Given the description of an element on the screen output the (x, y) to click on. 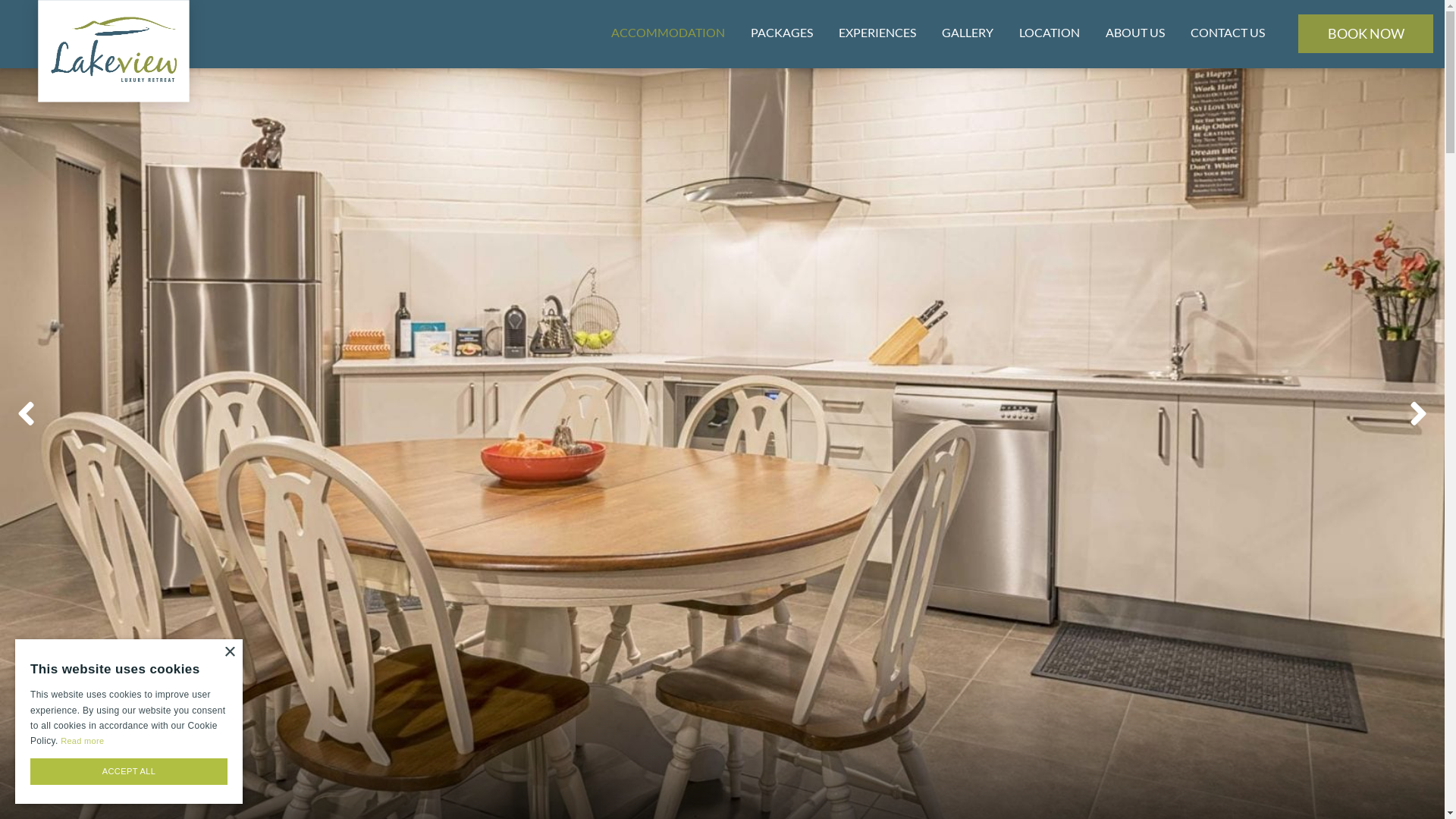
ABOUT US Element type: text (1134, 34)
PACKAGES Element type: text (781, 34)
CONTACT US Element type: text (1227, 34)
Read more Element type: text (81, 740)
BOOK NOW Element type: text (1365, 33)
GALLERY Element type: text (967, 34)
LOCATION Element type: text (1049, 34)
ACCOMMODATION Element type: text (667, 34)
EXPERIENCES Element type: text (876, 34)
